Given the description of an element on the screen output the (x, y) to click on. 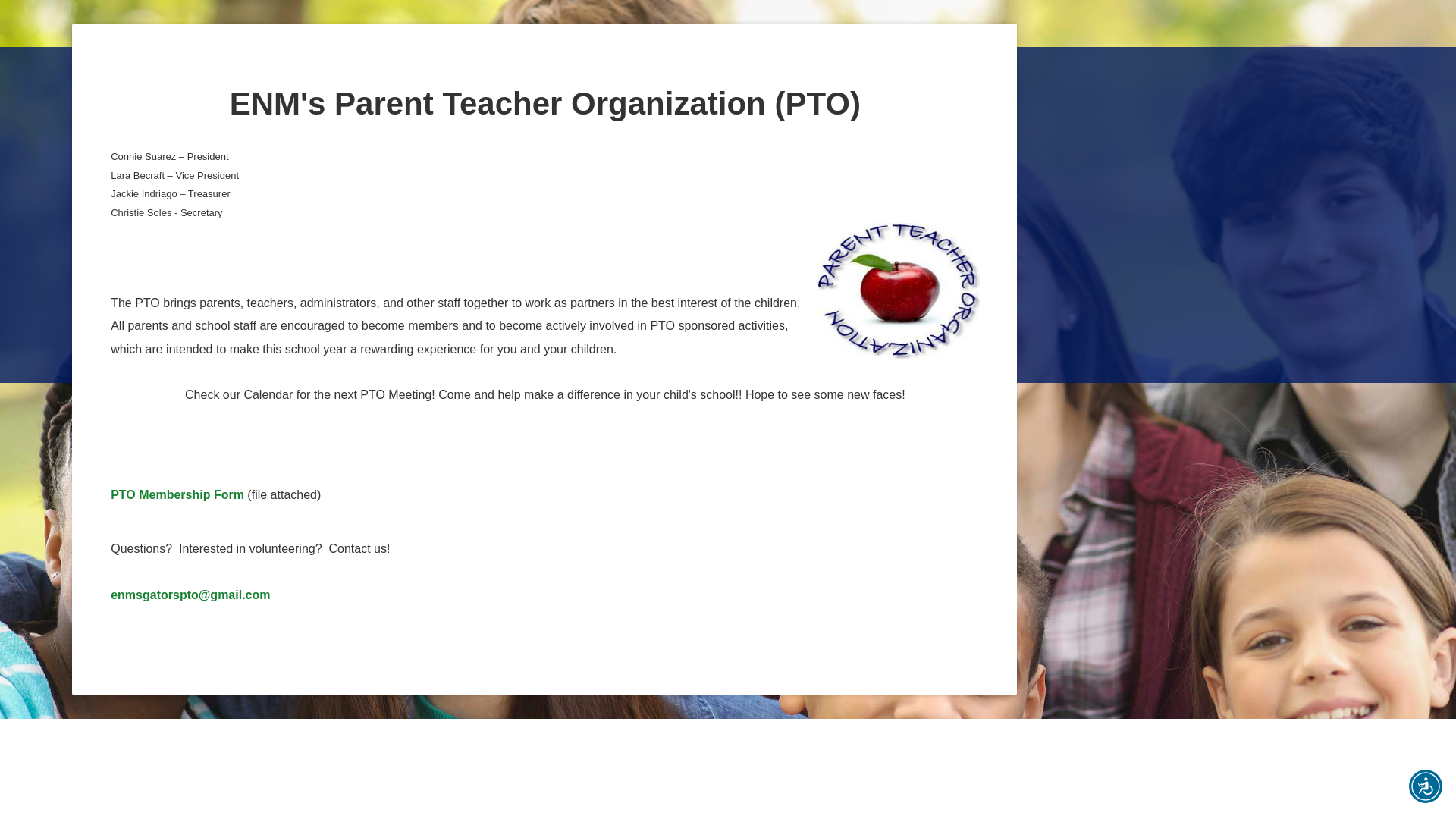
PTO (897, 290)
